Given the description of an element on the screen output the (x, y) to click on. 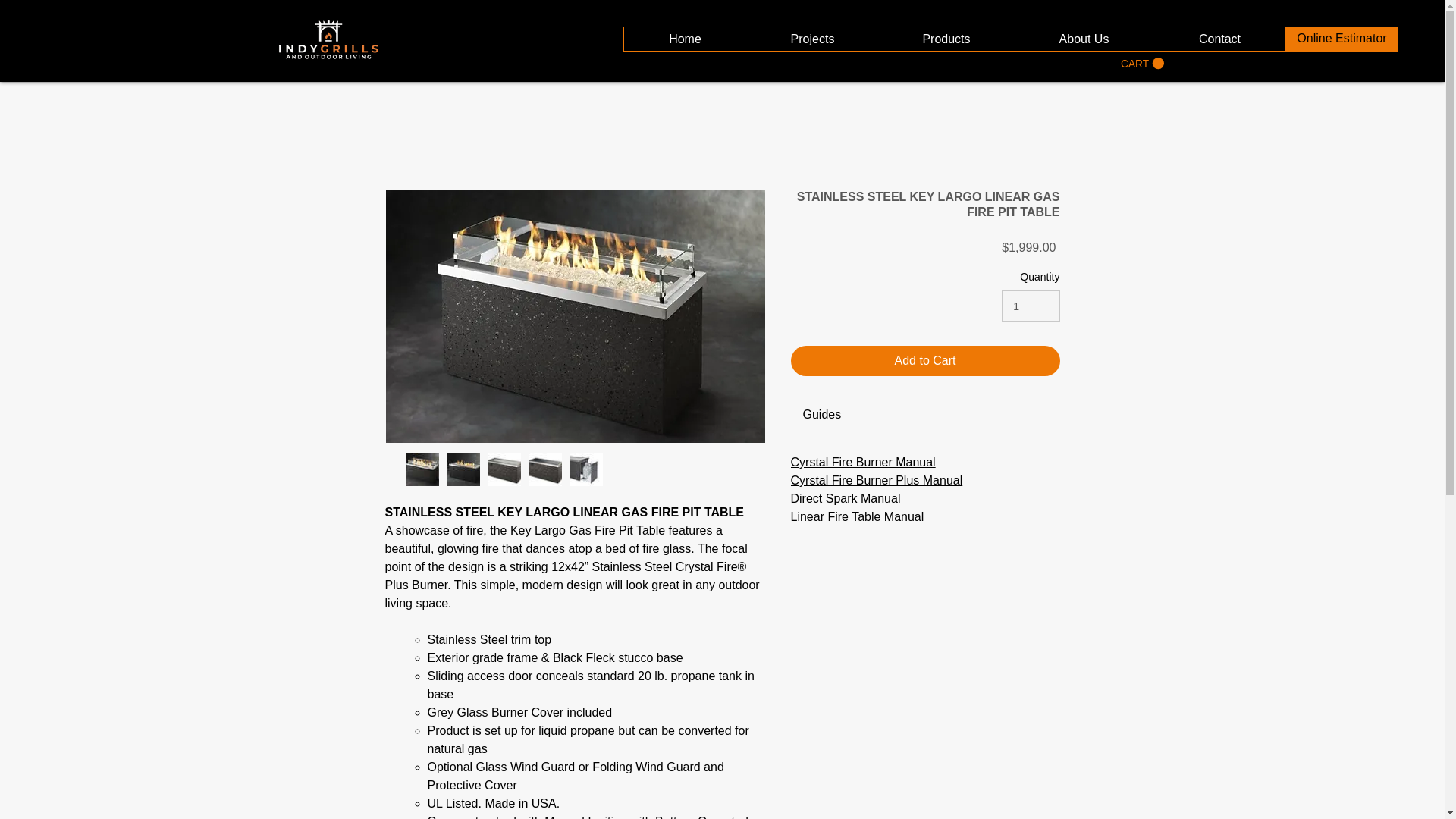
Projects (811, 38)
Online Estimator (1341, 38)
Contact (1219, 38)
Use right and left arrows to navigate between tabs (821, 414)
About Us (1083, 38)
CART (1142, 63)
Linear Fire Table Manual (856, 516)
1 (1030, 305)
CART (1142, 63)
Direct Spark Manual (844, 498)
Products (945, 38)
Add to Cart (924, 360)
Cyrstal Fire Burner Plus Manual (876, 480)
Home (684, 38)
Cyrstal Fire Burner Manual (862, 461)
